Given the description of an element on the screen output the (x, y) to click on. 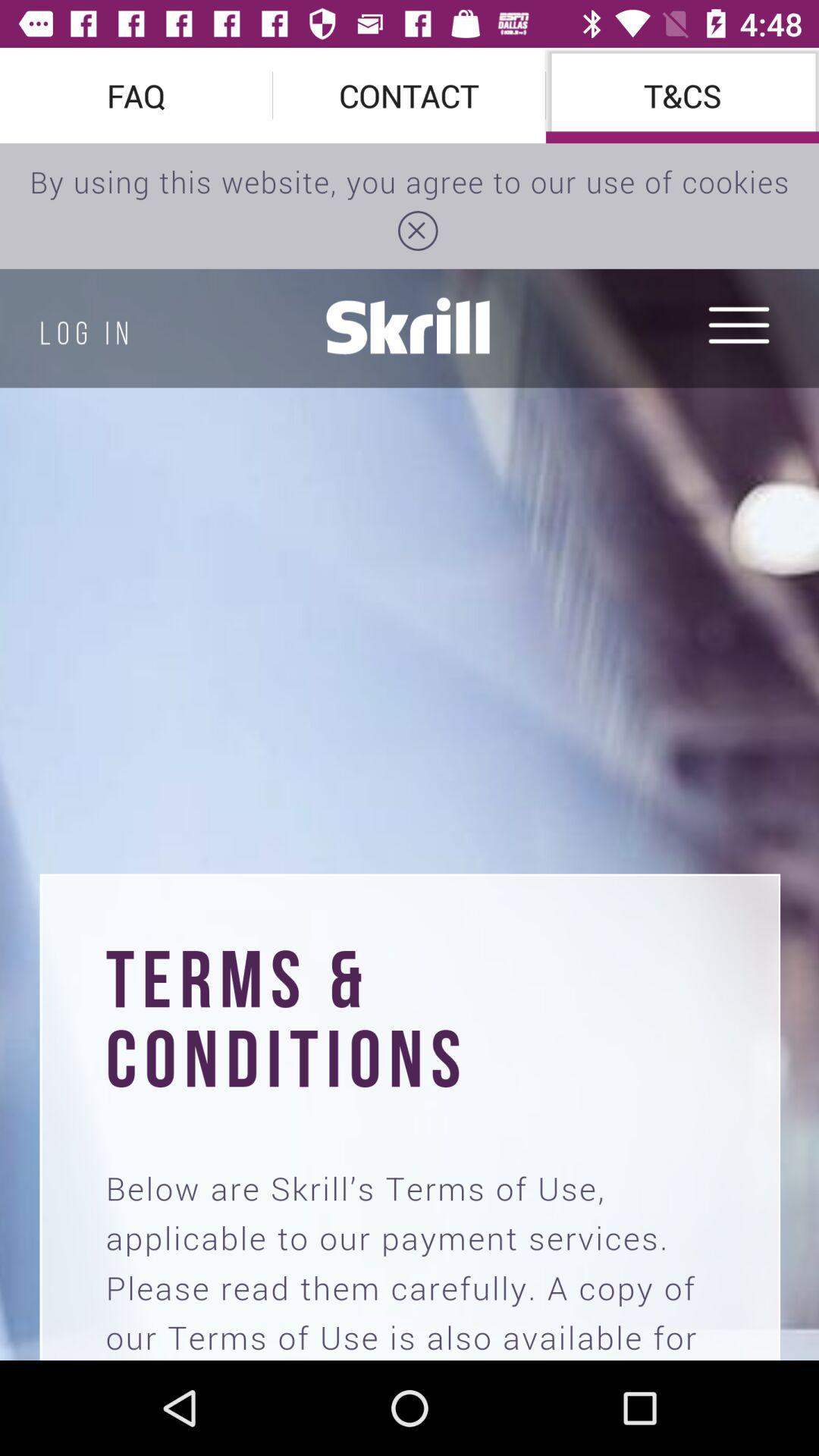
agree with cookie use (409, 751)
